Given the description of an element on the screen output the (x, y) to click on. 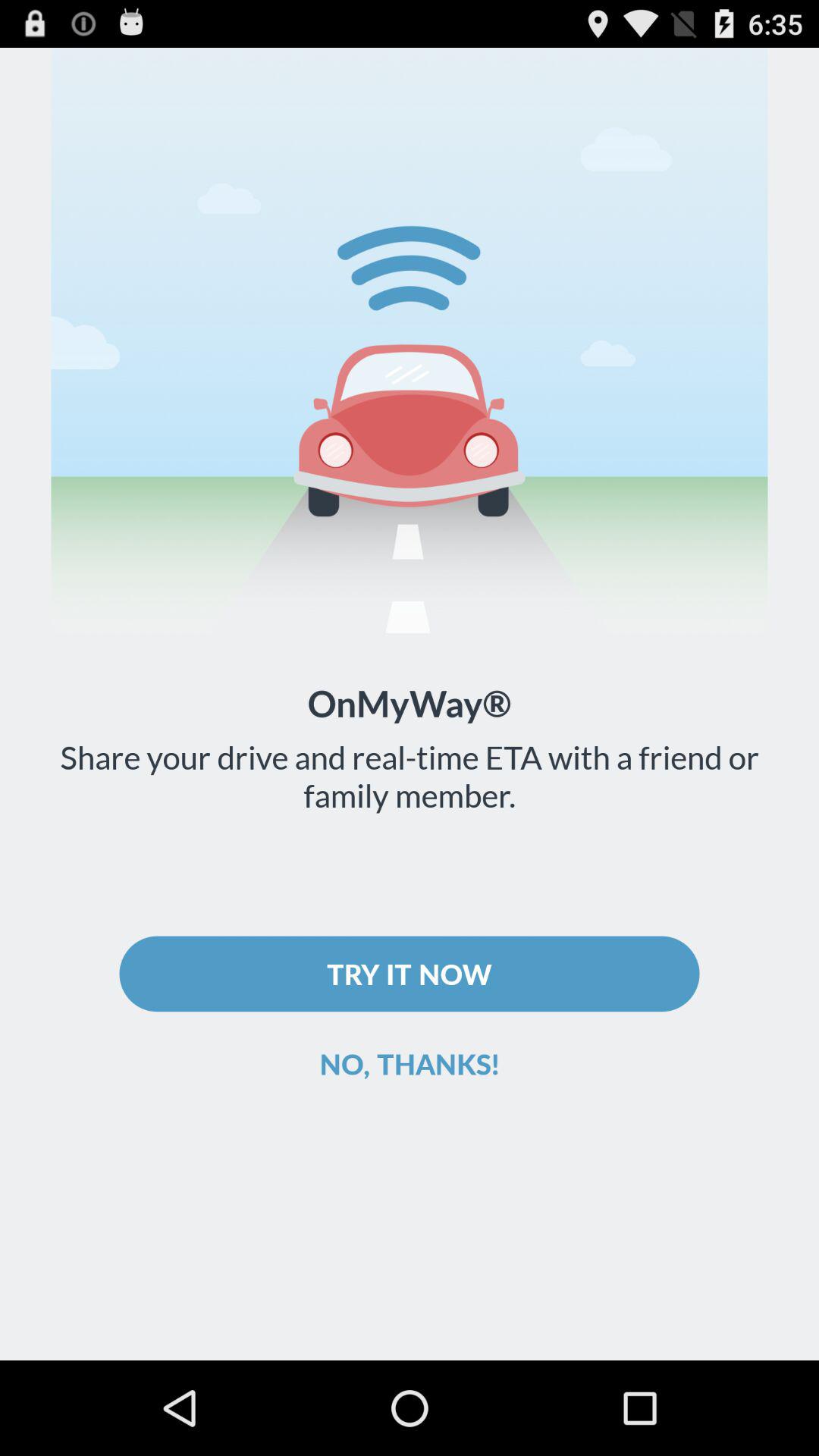
turn on icon below share your drive item (409, 973)
